Given the description of an element on the screen output the (x, y) to click on. 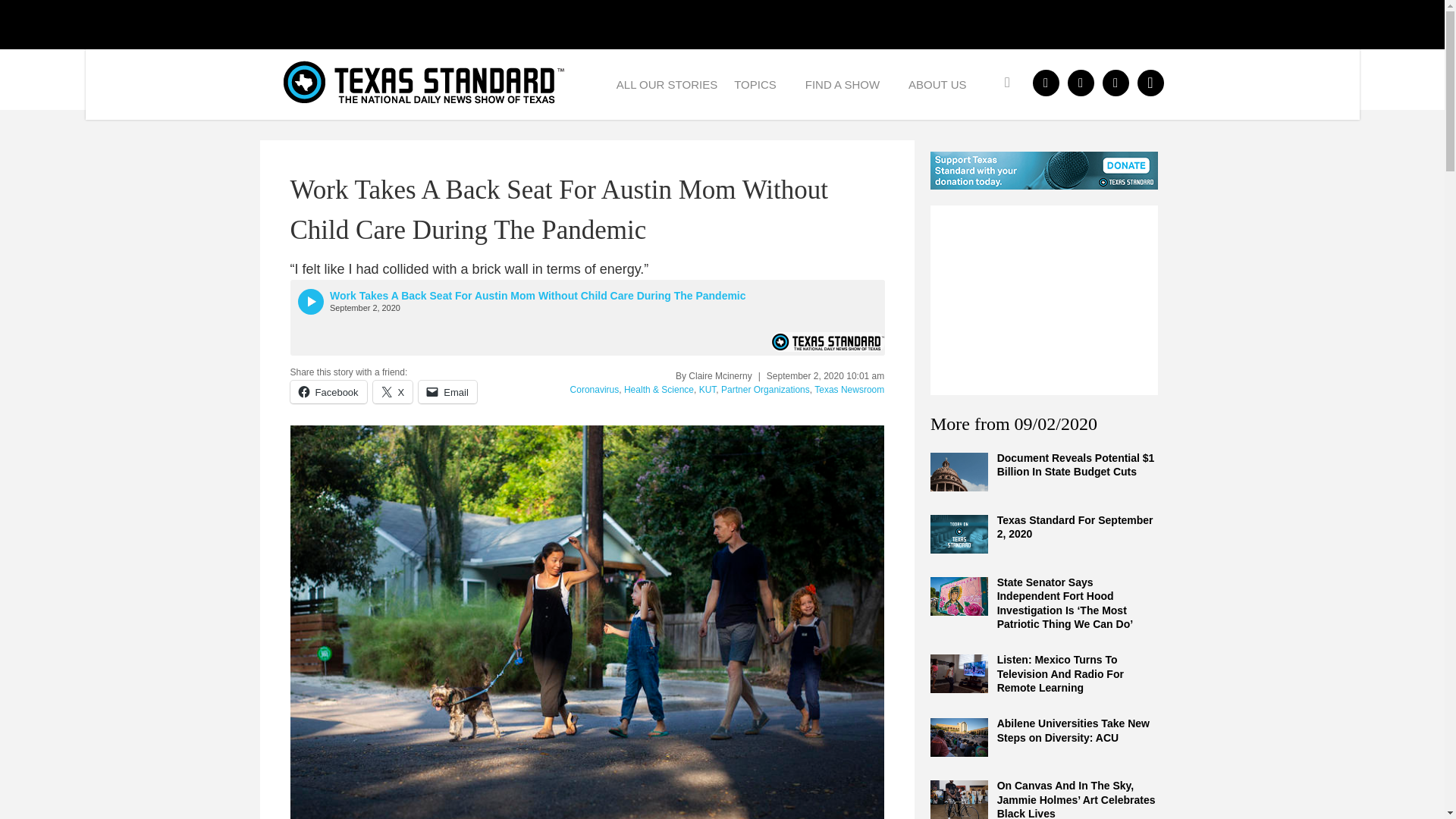
ALL OUR STORIES (666, 82)
Media player (586, 317)
3rd party ad content (1043, 299)
Click to share on X (392, 391)
Click to share on Facebook (327, 391)
TOPICS (761, 82)
Click to email a link to a friend (448, 391)
